Given the description of an element on the screen output the (x, y) to click on. 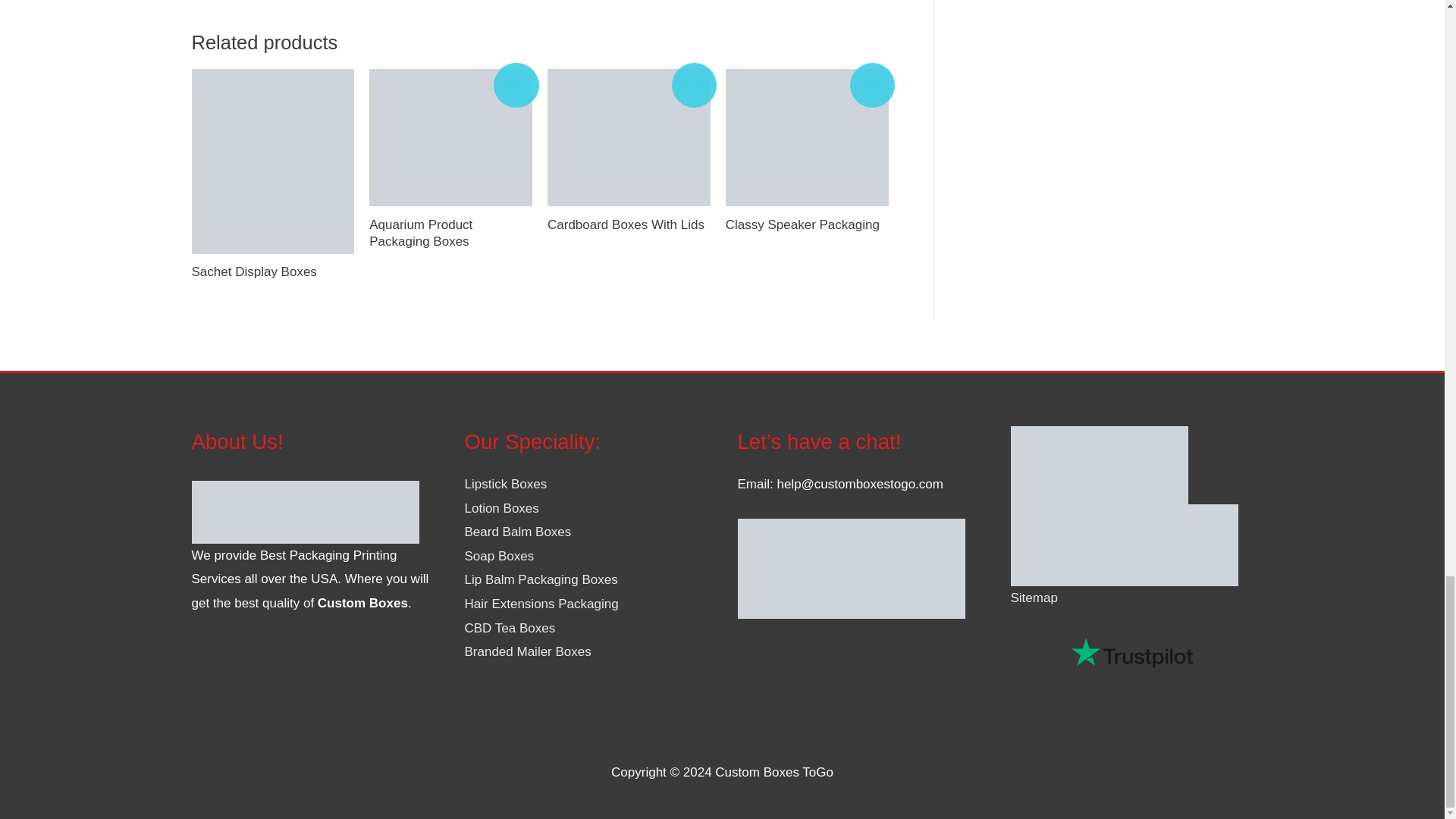
Branded Mailer Boxes (527, 651)
Lipstick Boxes (505, 483)
Hair Extensions Packaging (540, 603)
Lip Balm Packaging Boxes (540, 579)
Customer reviews powered by Trustpilot (1131, 652)
CBD Tea Boxes (509, 627)
Lotion Boxes (501, 508)
Soap Boxes (499, 555)
Classy Speaker Packaging (806, 225)
Sachet Display Boxes (271, 271)
Sitemap (1033, 597)
Aquarium Product Packaging Boxes (450, 233)
Beard Balm Boxes (517, 531)
Cardboard Boxes With Lids (628, 225)
